Given the description of an element on the screen output the (x, y) to click on. 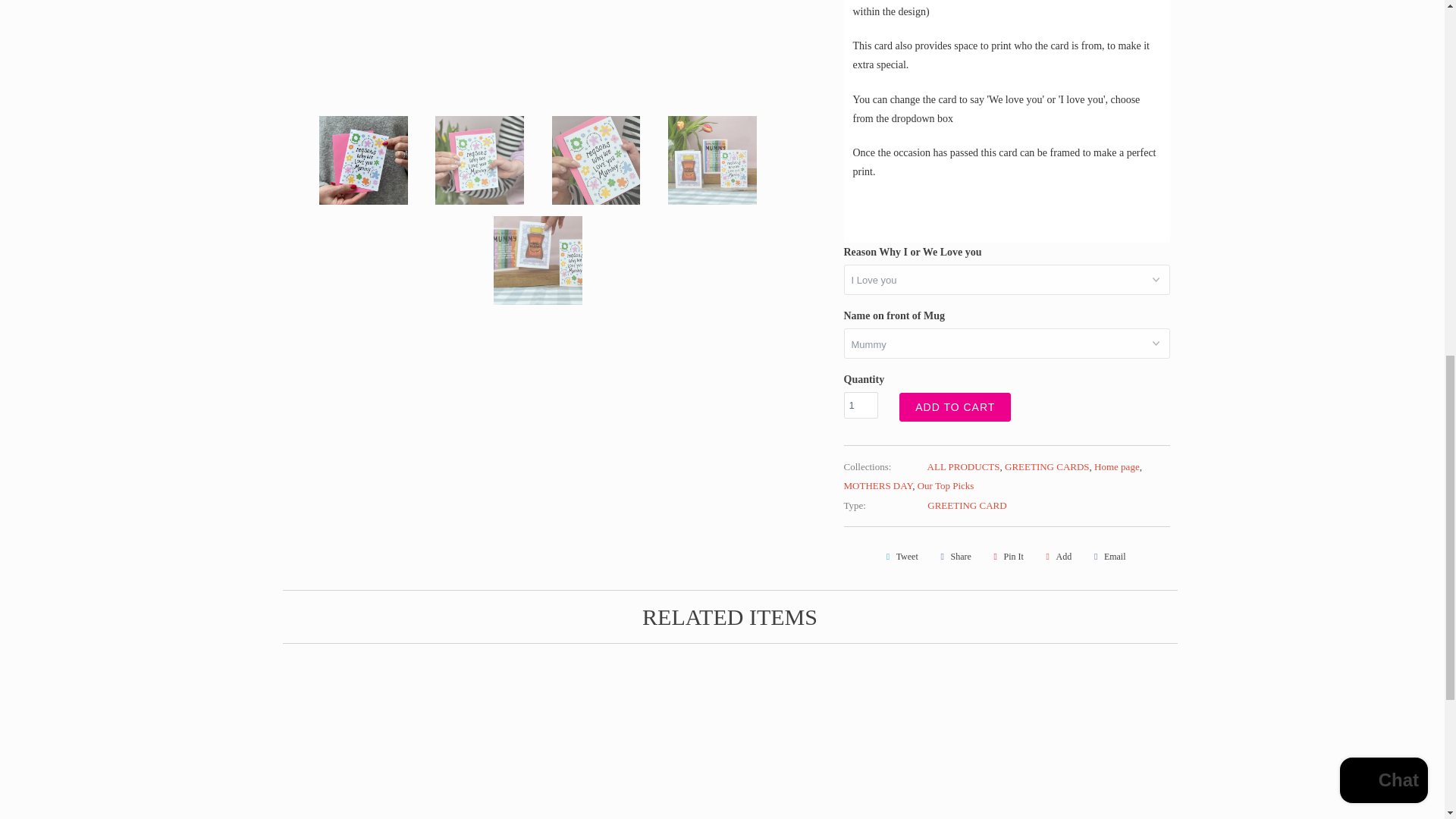
Browse GREETING CARDS (1046, 466)
Browse ALL PRODUCTS (963, 466)
1 (860, 405)
Share this on Twitter (898, 556)
Browse Home page (1117, 466)
Browse MOTHERS DAY (877, 485)
GREETING CARD (966, 505)
Share this on Pinterest (1005, 556)
Browse Our Top Picks (945, 485)
Share this on Facebook (953, 556)
